Given the description of an element on the screen output the (x, y) to click on. 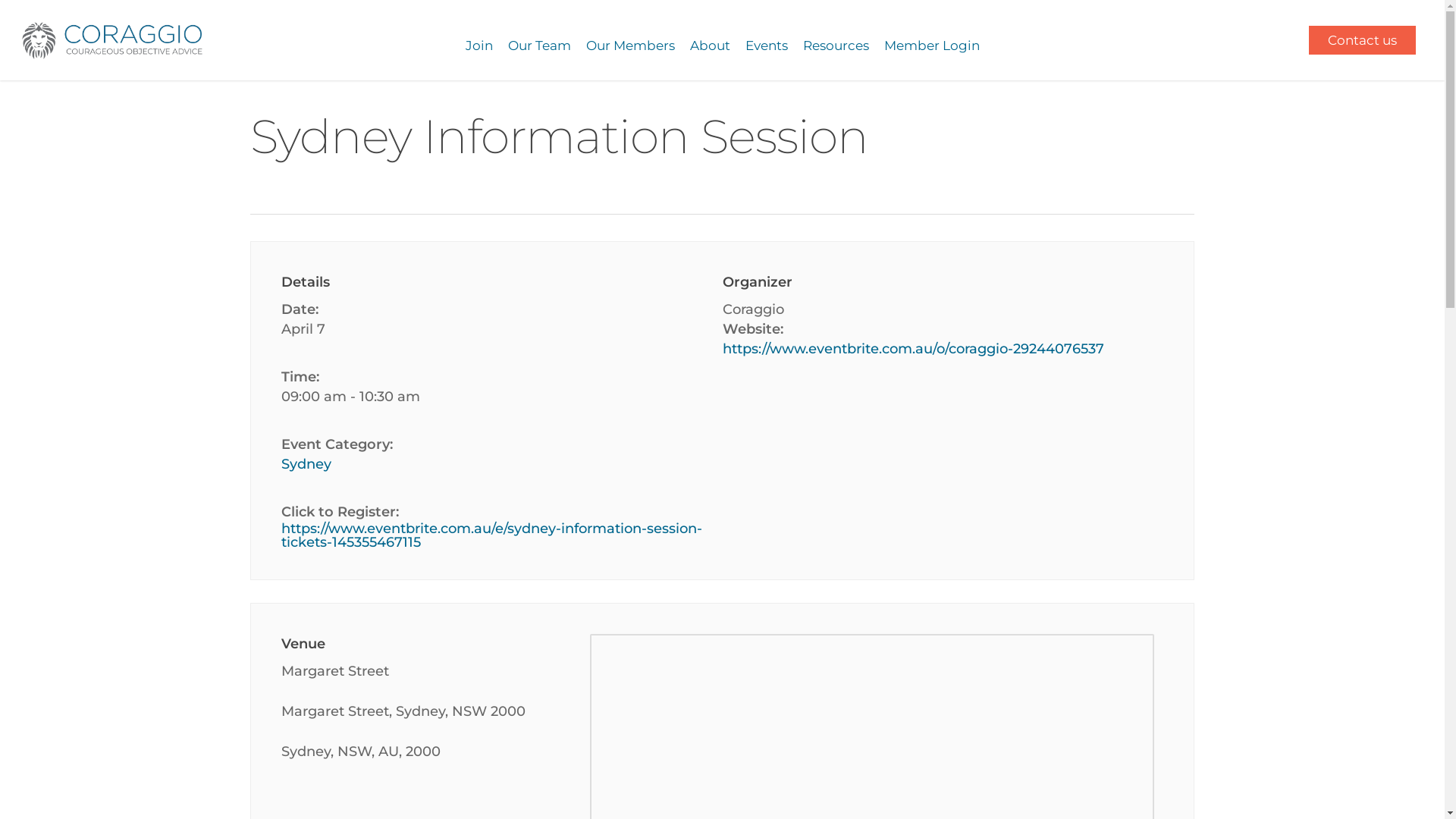
Our Team Element type: text (539, 40)
Member Login Element type: text (931, 40)
Our Members Element type: text (629, 40)
Resources Element type: text (834, 40)
About Element type: text (709, 40)
https://www.eventbrite.com.au/o/coraggio-29244076537 Element type: text (912, 348)
Events Element type: text (765, 40)
Join Element type: text (479, 40)
Sydney Element type: text (306, 463)
Contact us Element type: text (1361, 39)
